Given the description of an element on the screen output the (x, y) to click on. 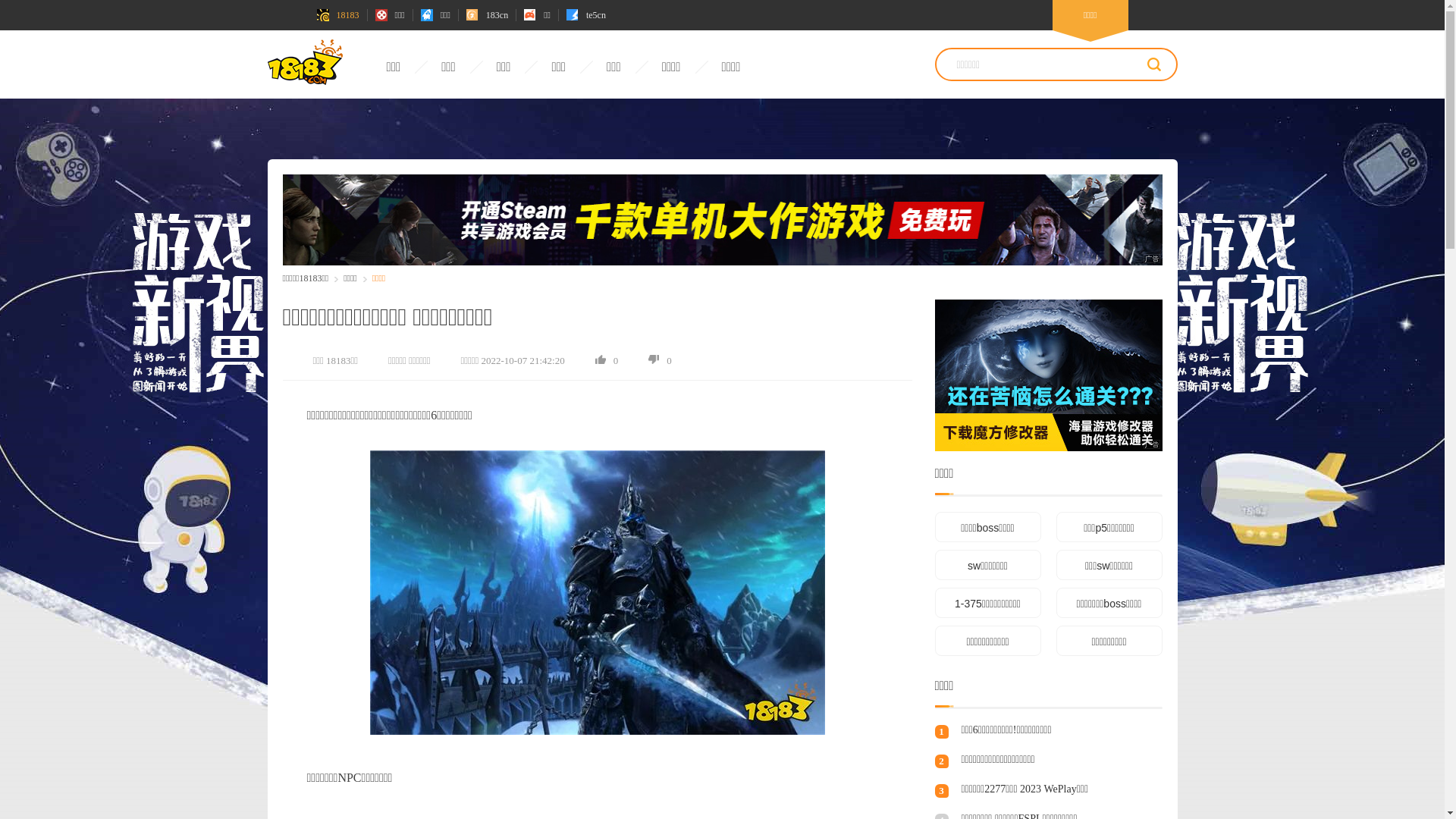
183cn Element type: text (487, 14)
18183 Element type: text (337, 14)
te5cn Element type: text (585, 14)
